Given the description of an element on the screen output the (x, y) to click on. 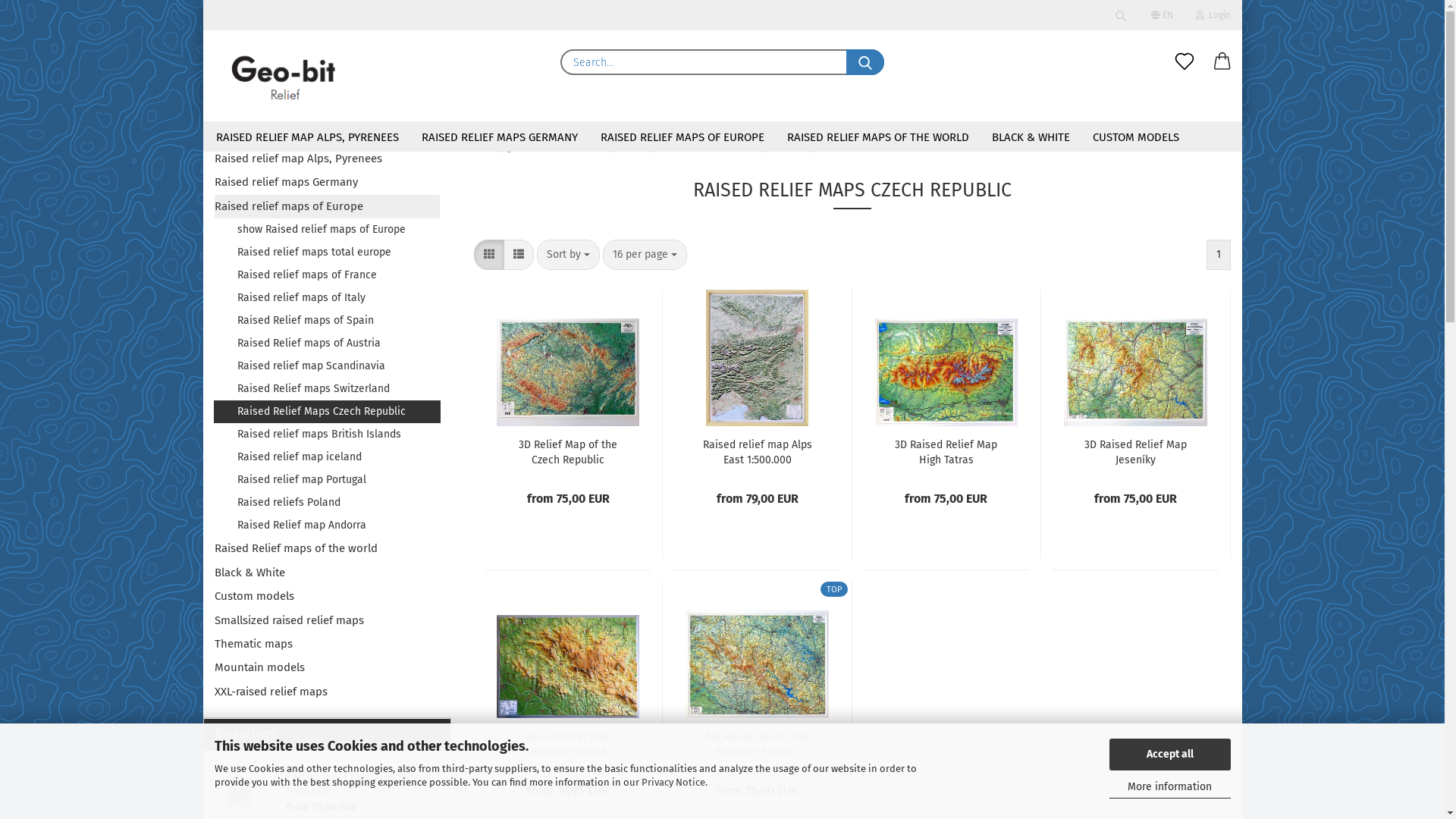
XXL-raised relief maps Element type: text (326, 691)
show Raised relief maps of Europe Element type: text (326, 229)
EN Element type: text (1161, 15)
 Login Element type: text (1213, 15)
Raised relief map Alps East 1:500.000 Element type: hover (756, 357)
Black & White Element type: text (326, 572)
Custom models Element type: text (326, 596)
Thematic maps Element type: text (326, 643)
Privacy Notice Element type: text (673, 781)
RAISED RELIEF MAPS GERMANY Element type: text (498, 136)
3D Reliefkarten Element type: hover (283, 75)
RAISED RELIEF MAP ALPS, PYRENEES Element type: text (307, 136)
Raised Relief map Andorra Element type: text (326, 525)
BLACK & WHITE Element type: text (1029, 136)
Sort by Element type: text (567, 254)
RAISED RELIEF MAPS OF EUROPE Element type: text (681, 136)
3D Raised Relief Map High Tatras Element type: hover (946, 357)
Smallsized raised relief maps Element type: text (326, 620)
RAISED RELIEF MAPS OF THE WORLD Element type: text (877, 136)
Raised relief maps British Islands Element type: text (326, 434)
Raised relief map iceland Element type: text (326, 456)
3D Relief Map of the Czech Republic Element type: hover (567, 357)
Raised Relief maps of Spain Element type: text (326, 320)
Raised relief maps total europe Element type: text (326, 252)
Raised relief map Alps, Pyrenees Element type: text (326, 158)
Search Element type: hover (1120, 15)
Raised relief maps of Europe Element type: text (603, 146)
Login Element type: text (1130, 193)
CUSTOM MODELS Element type: text (1135, 136)
Raised Relief maps Switzerland Element type: text (326, 388)
Main page Element type: text (494, 146)
Raised relief map Scandinavia Element type: text (326, 365)
Raised relief maps Germany Element type: text (326, 182)
Raised Relief Maps Czech Republic Element type: text (327, 411)
Raised relief map Portugal Element type: text (326, 479)
3D Raised Relief Map High Tatras Element type: text (946, 451)
Raised relief map Alps East 1:500.000 Element type: text (756, 451)
Raised relief map Bavarian Forest Element type: text (567, 744)
Save Element type: text (1078, 190)
16 per page Element type: text (644, 254)
Raised relief maps of France Element type: text (326, 274)
Raised relief map Bavarian Forest Element type: hover (567, 648)
Raised relief maps of Italy Element type: text (326, 297)
Raised reliefs Poland Element type: text (326, 502)
Raised Relief maps of the world Element type: text (326, 548)
Accept all Element type: text (1169, 754)
More information Element type: text (1169, 787)
Raised relief maps of Europe Element type: text (326, 206)
Raised Relief maps of Austria Element type: text (326, 343)
3D Relief Map of the Czech Republic Element type: text (567, 451)
Mountain models Element type: text (326, 667)
